Given the description of an element on the screen output the (x, y) to click on. 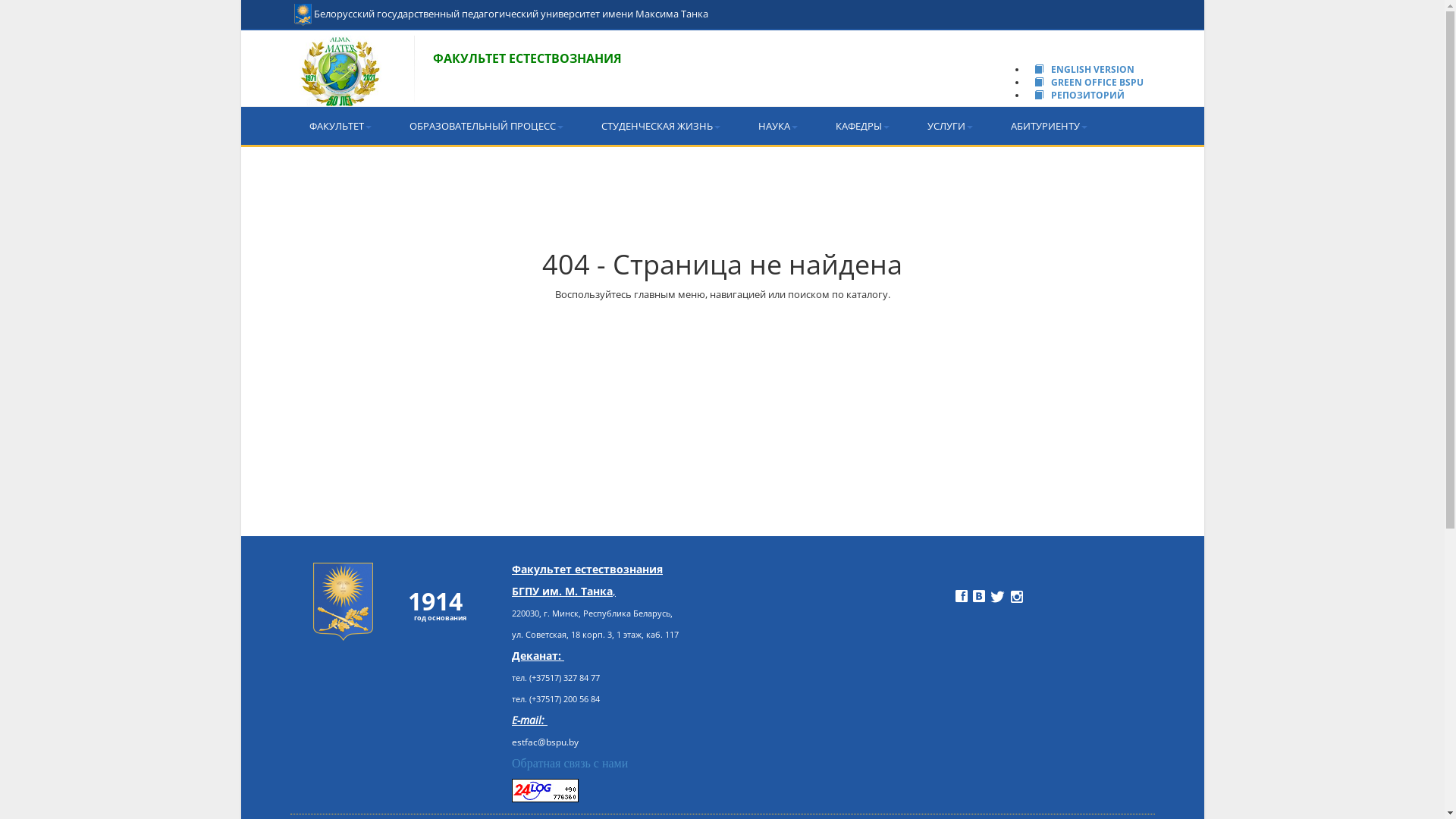
ENGLISH VERSION Element type: text (1080, 68)
GREEN OFFICE BSPU Element type: text (1084, 81)
Besucherzahler  Element type: hover (525, 782)
